Given the description of an element on the screen output the (x, y) to click on. 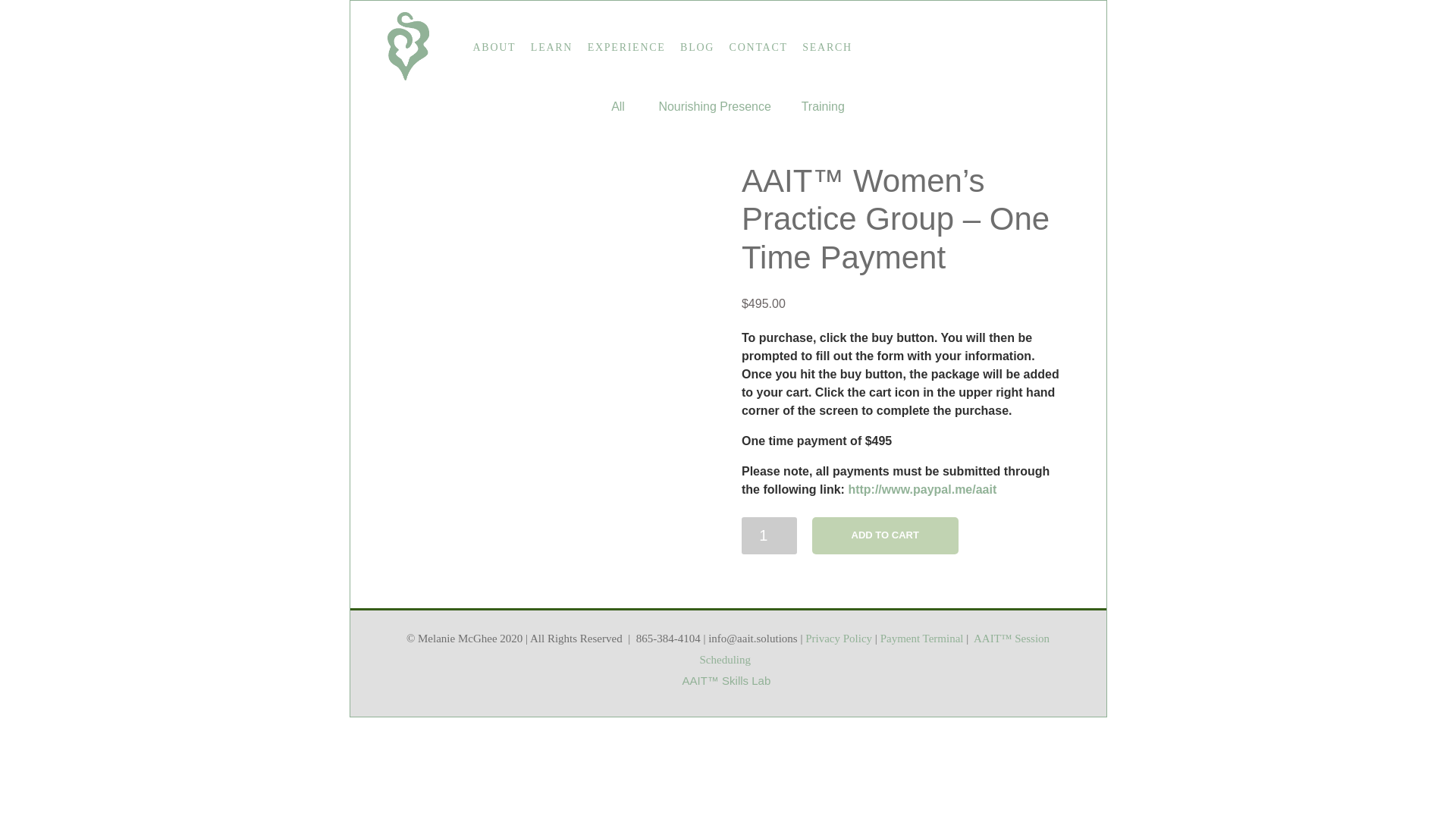
1 (768, 535)
EXPERIENCE (626, 47)
ADD TO CART (885, 534)
Nourishing Presence (714, 106)
BLOG (696, 47)
ABOUT (493, 47)
Qty (768, 535)
CONTACT (758, 47)
All (617, 106)
LEARN (551, 47)
Privacy Policy (838, 638)
SEARCH (826, 47)
Training (823, 106)
Payment Terminal (921, 638)
